Given the description of an element on the screen output the (x, y) to click on. 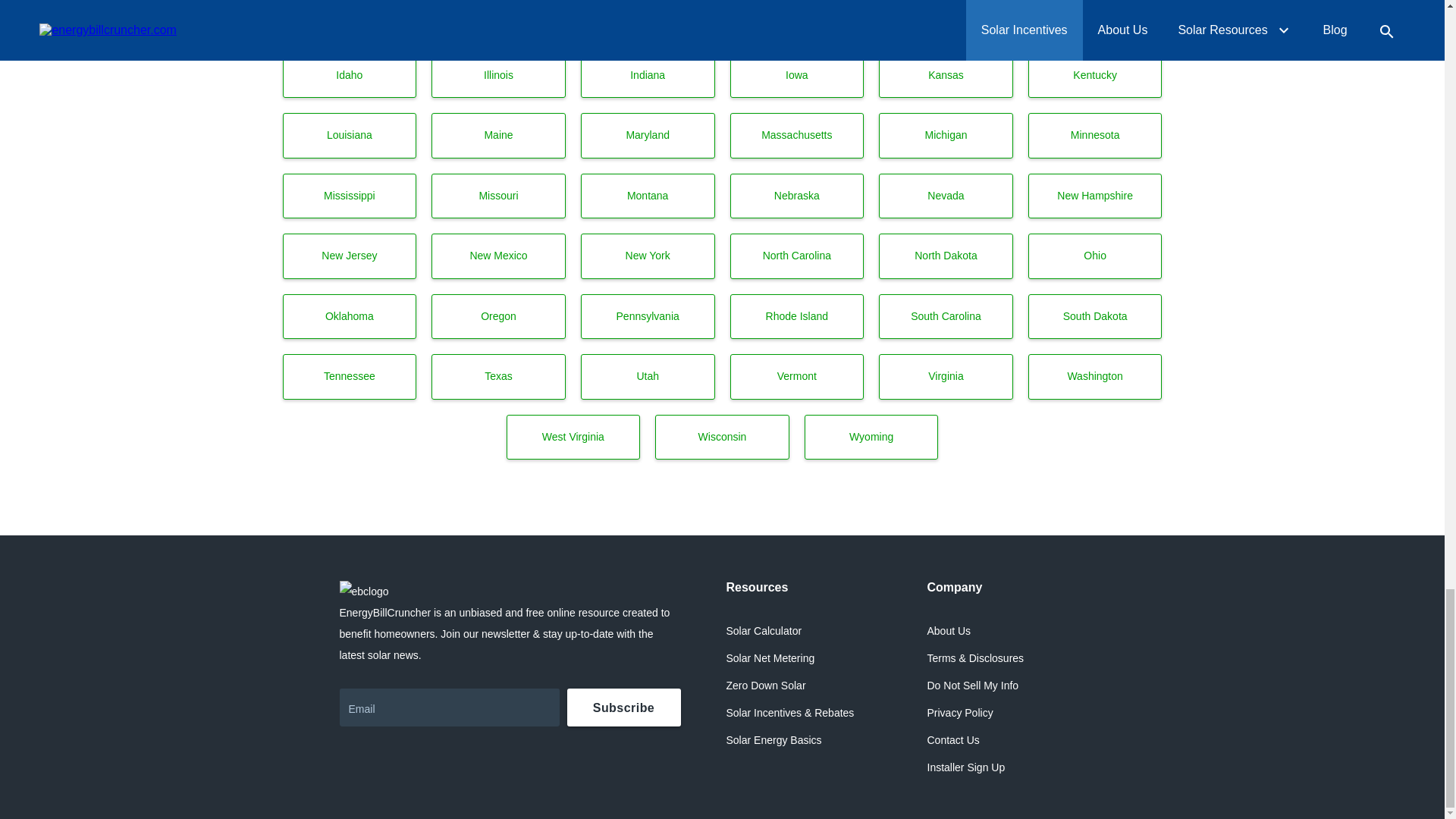
Indiana (647, 75)
Louisiana (349, 135)
Missouri (498, 196)
Michigan (946, 135)
District of Columbia (647, 18)
Minnesota (1094, 135)
Maryland (647, 135)
Iowa (796, 75)
Kansas (946, 75)
Connecticut (349, 18)
Maine (498, 135)
Florida (796, 18)
Georgia (946, 18)
Mississippi (349, 196)
Delaware (498, 18)
